Given the description of an element on the screen output the (x, y) to click on. 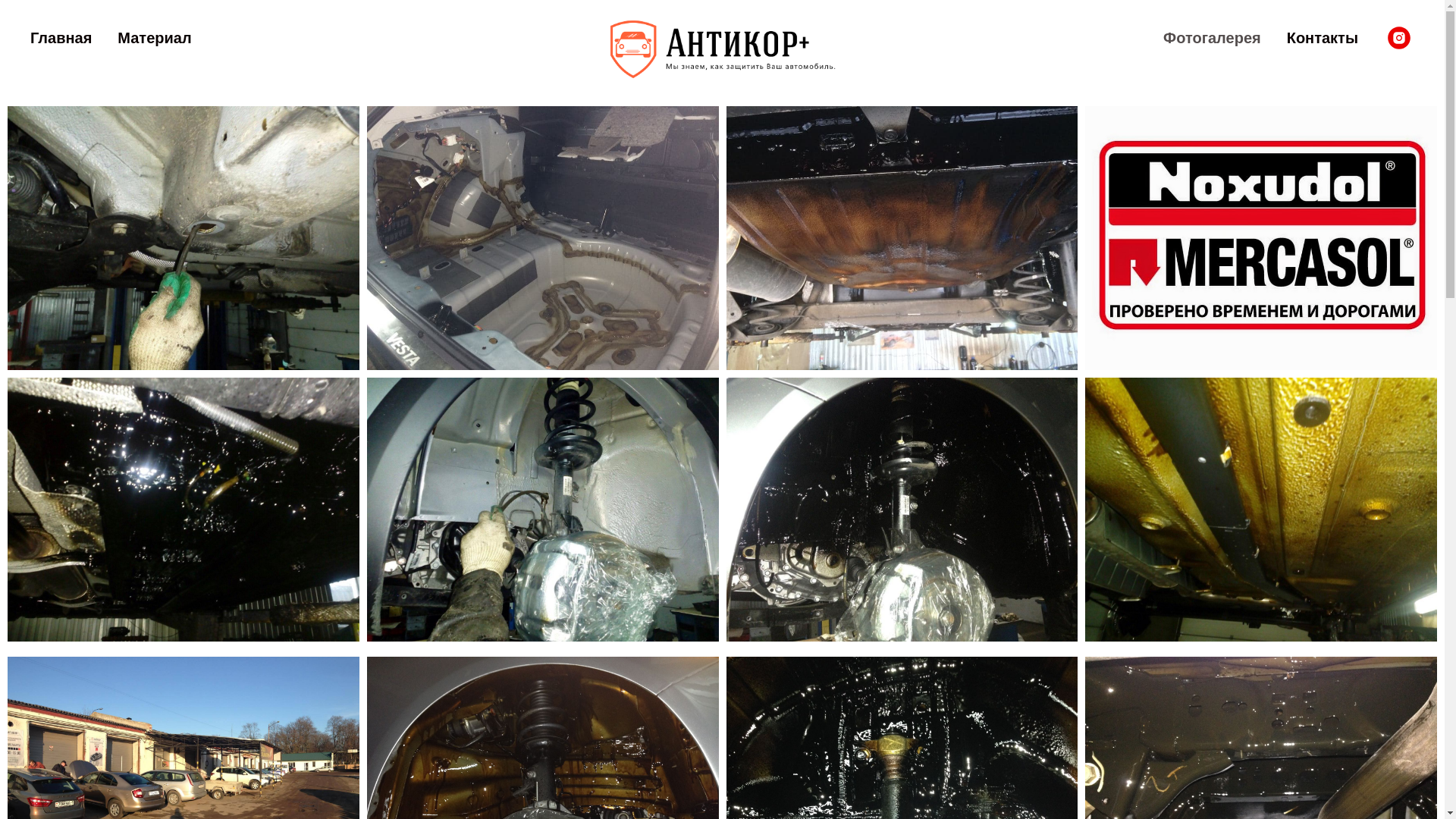
Instagram Element type: text (1398, 37)
